Given the description of an element on the screen output the (x, y) to click on. 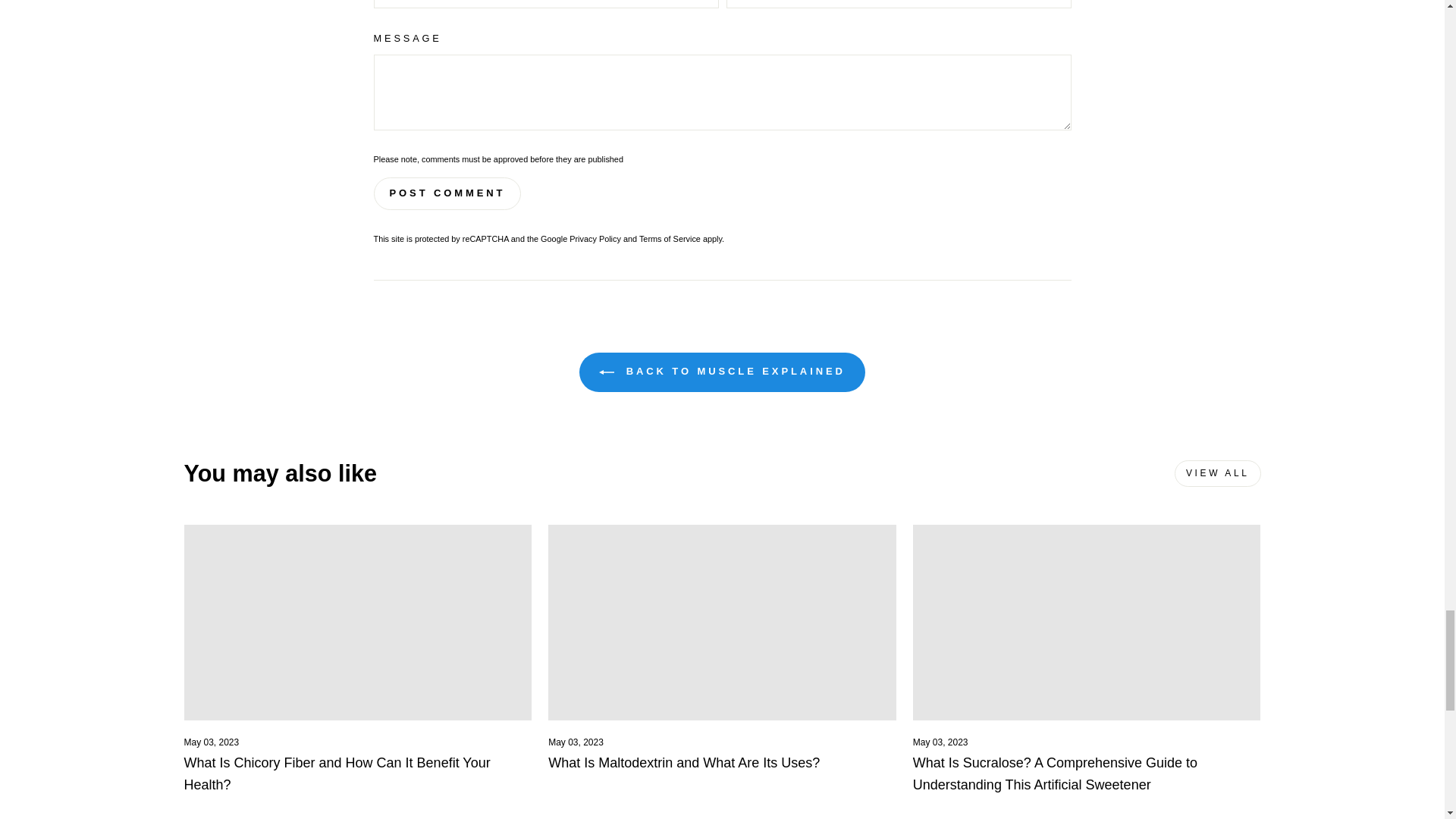
ICON-LEFT-ARROW BACK TO MUSCLE EXPLAINED (721, 372)
ICON-LEFT-ARROW (606, 372)
VIEW ALL (1217, 473)
What Is Chicory Fiber and How Can It Benefit Your Health? (336, 773)
Privacy Policy (595, 238)
Terms of Service (669, 238)
POST COMMENT (446, 193)
